Given the description of an element on the screen output the (x, y) to click on. 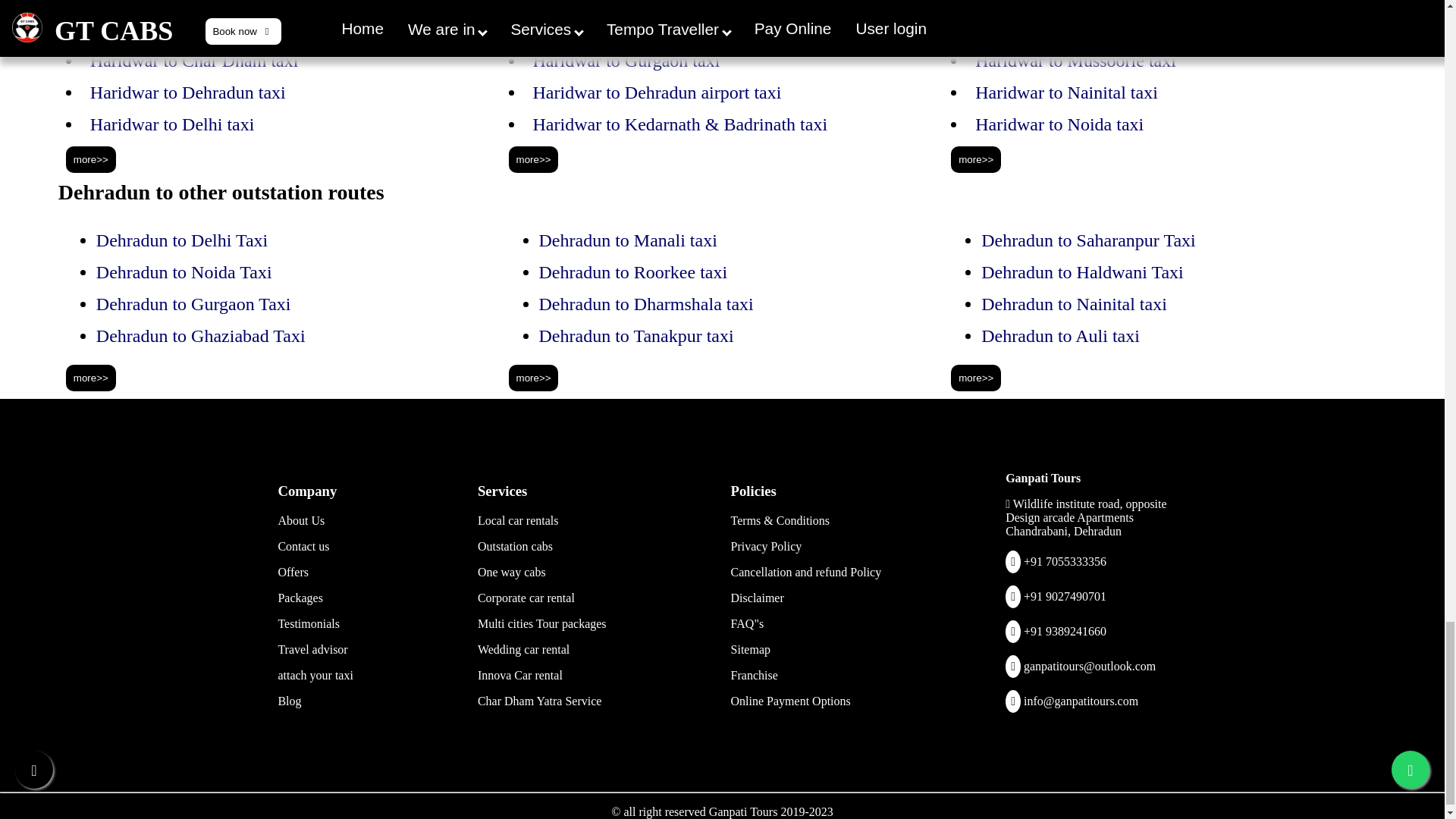
Haridwar to Delhi taxi (172, 124)
Haridwar to Dehradun taxi (187, 92)
Haridwar to Char Dham taxi (194, 60)
Haridwar to Badrinath taxi (187, 28)
